Given the description of an element on the screen output the (x, y) to click on. 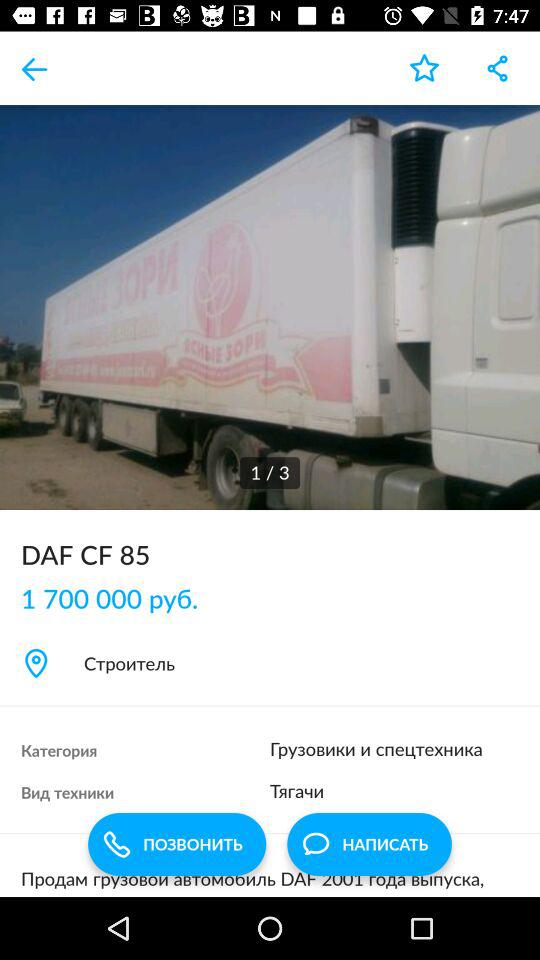
launch the icon above 1 700 000 item (270, 554)
